Given the description of an element on the screen output the (x, y) to click on. 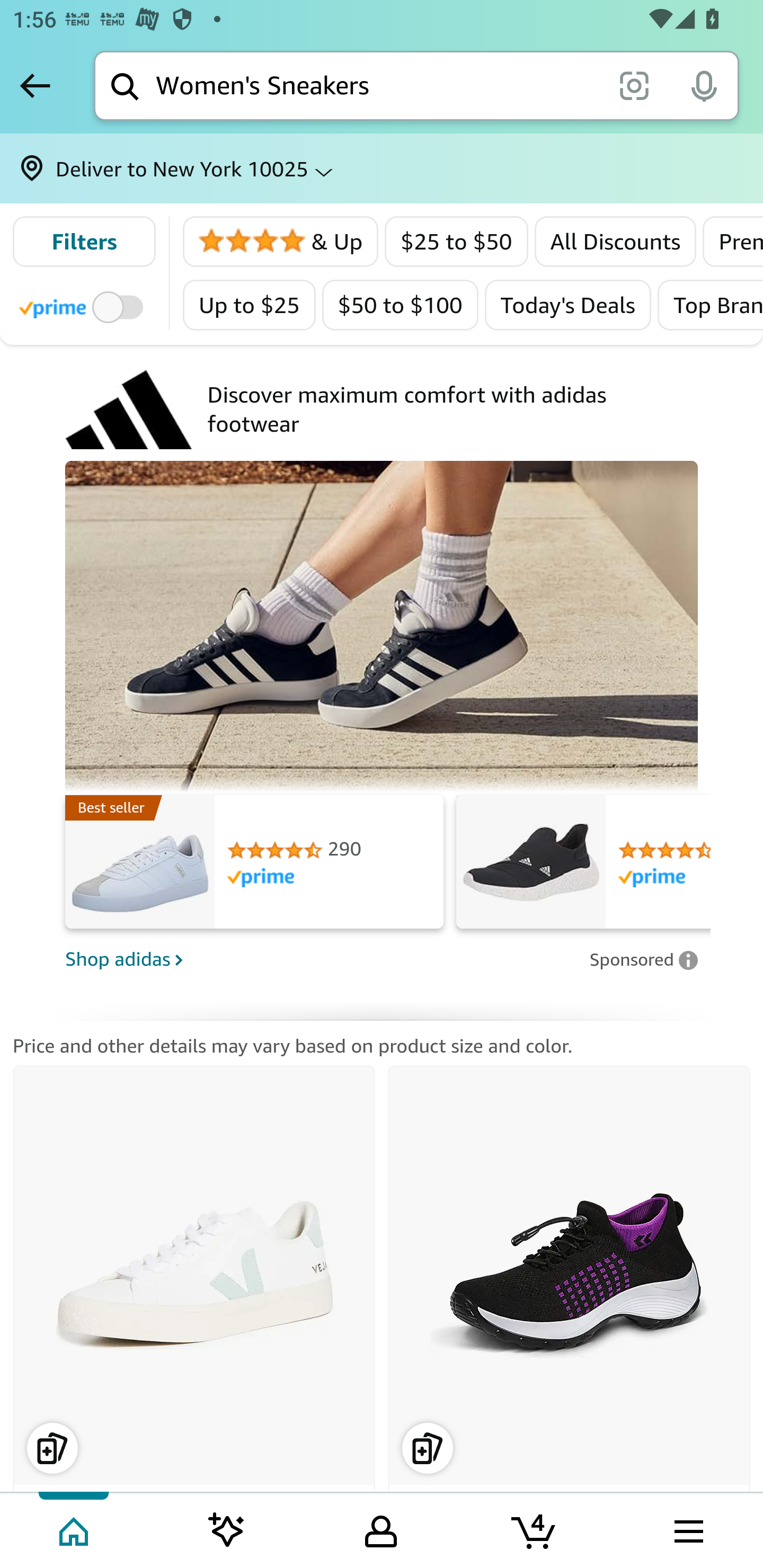
Back (35, 85)
scan it (633, 85)
Deliver to New York 10025 ⌵ (381, 168)
Filters (83, 241)
4 Stars & Up (281, 241)
$25 to $50 (456, 241)
All Discounts (616, 241)
Toggle to filter by Prime products Prime Eligible (83, 306)
Up to $25 (249, 304)
$50 to $100 (399, 304)
Today's Deals (566, 304)
Top Brands (709, 304)
Shop adidas Shop  adidas  (321, 958)
Leave feedback on Sponsored ad (643, 959)
Home Tab 1 of 5 (75, 1529)
Inspire feed Tab 2 of 5 (227, 1529)
Your Amazon.com Tab 3 of 5 (380, 1529)
Cart 4 items Tab 4 of 5 4 (534, 1529)
Browse menu Tab 5 of 5 (687, 1529)
